Given the description of an element on the screen output the (x, y) to click on. 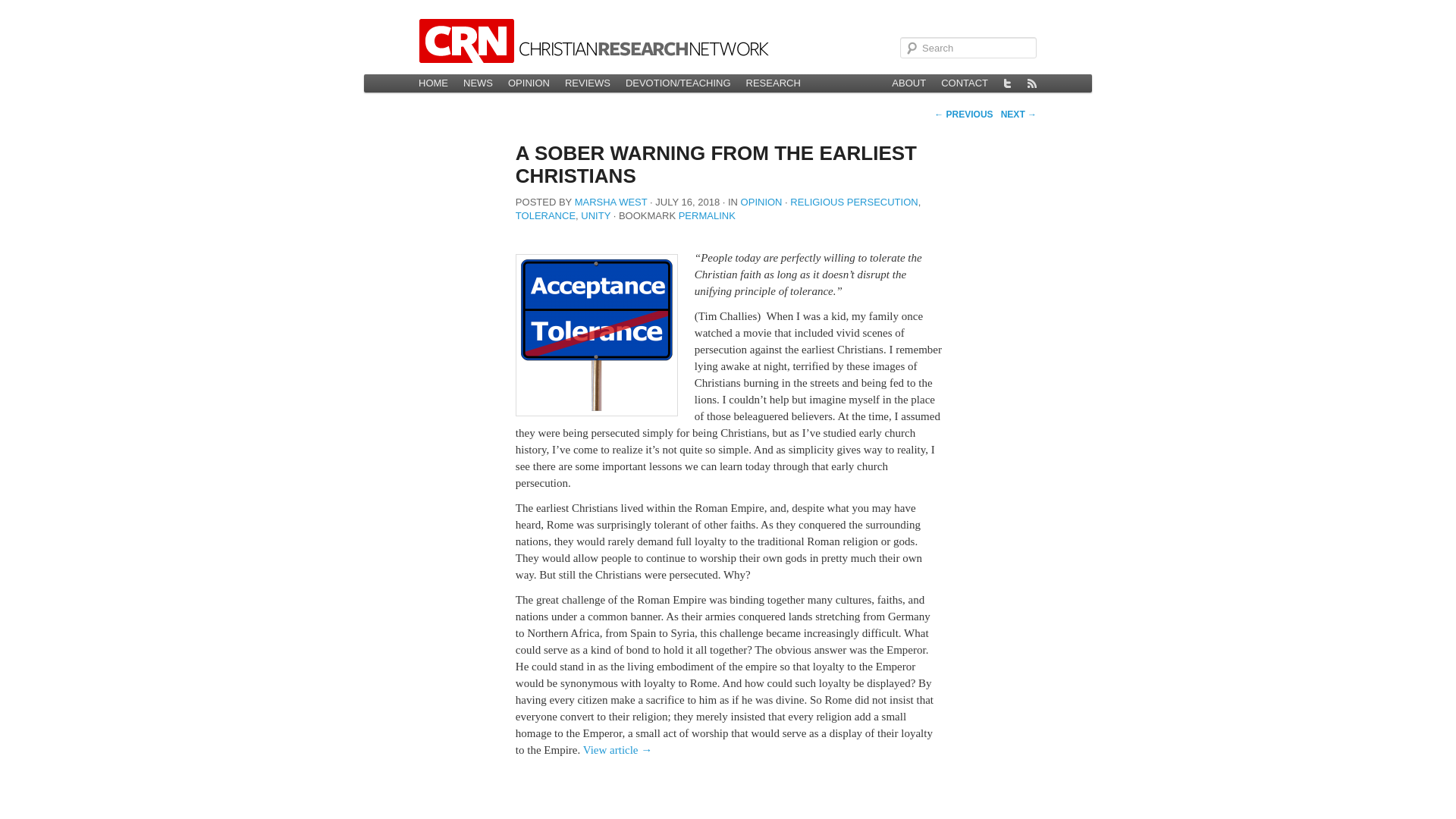
TOLERANCE (545, 215)
Skip to primary content (479, 83)
Permalink to A Sober Warning from the Earliest Christians (706, 215)
NEWS (477, 83)
Skip to primary content (479, 83)
Skip to secondary content (486, 83)
UNITY (595, 215)
View all posts by Marsha West (611, 202)
Skip to secondary content (486, 83)
Search (21, 7)
